Given the description of an element on the screen output the (x, y) to click on. 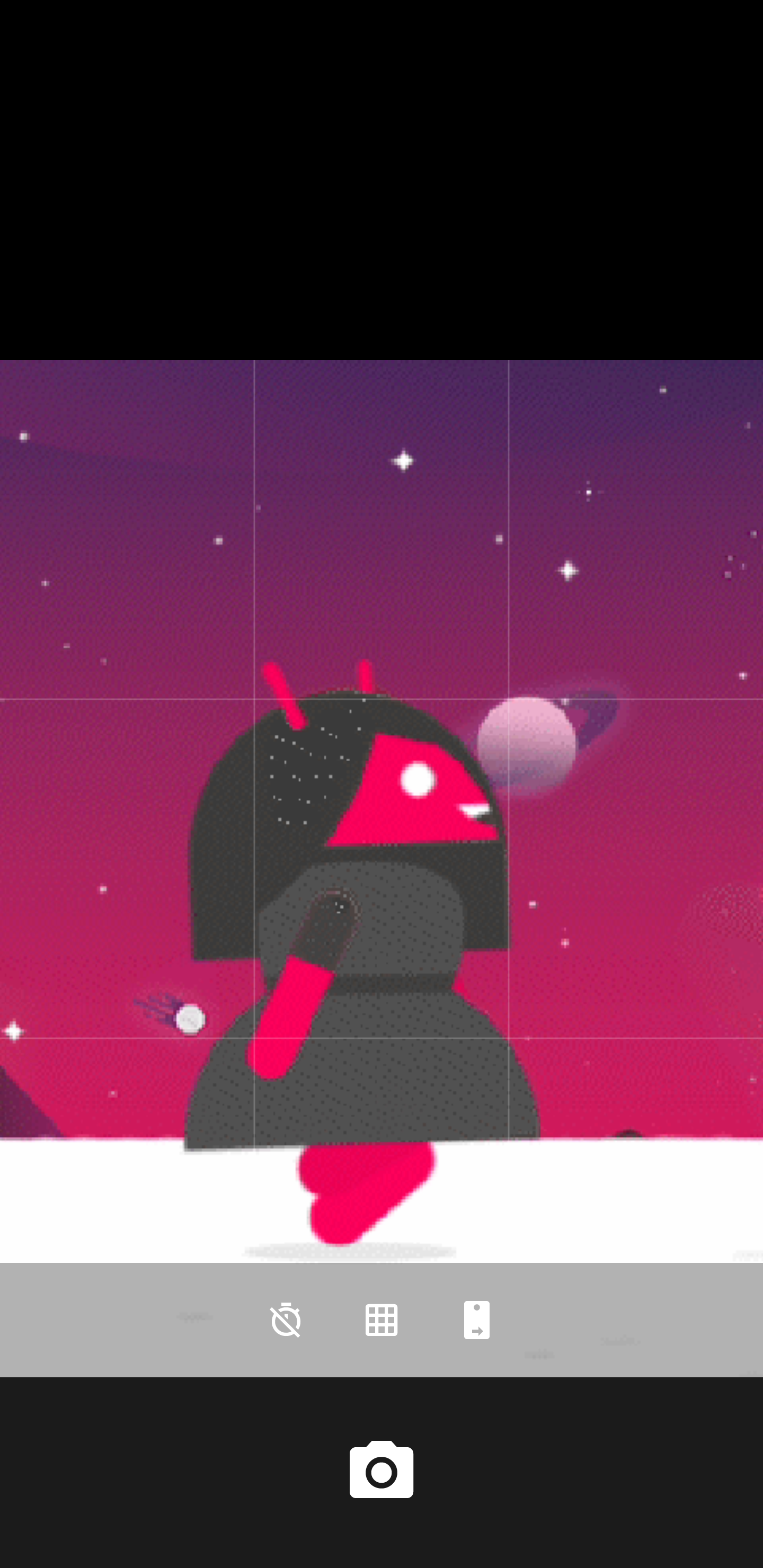
Countdown timer is off (285, 1319)
Grid lines on (381, 1319)
Back camera (476, 1319)
Shutter (381, 1472)
